Given the description of an element on the screen output the (x, y) to click on. 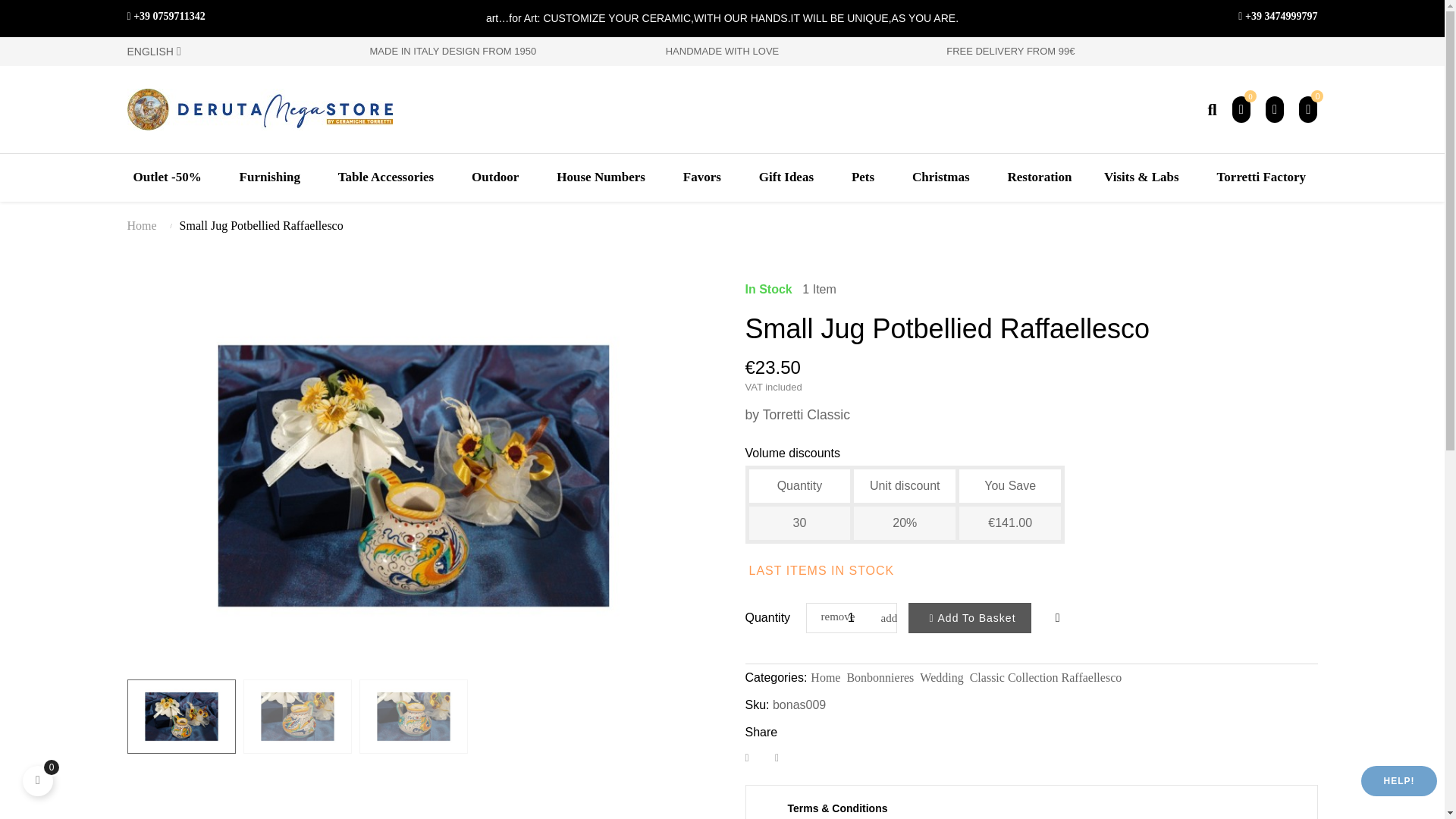
1 (851, 617)
ENGLISH (237, 51)
Language (237, 51)
